Given the description of an element on the screen output the (x, y) to click on. 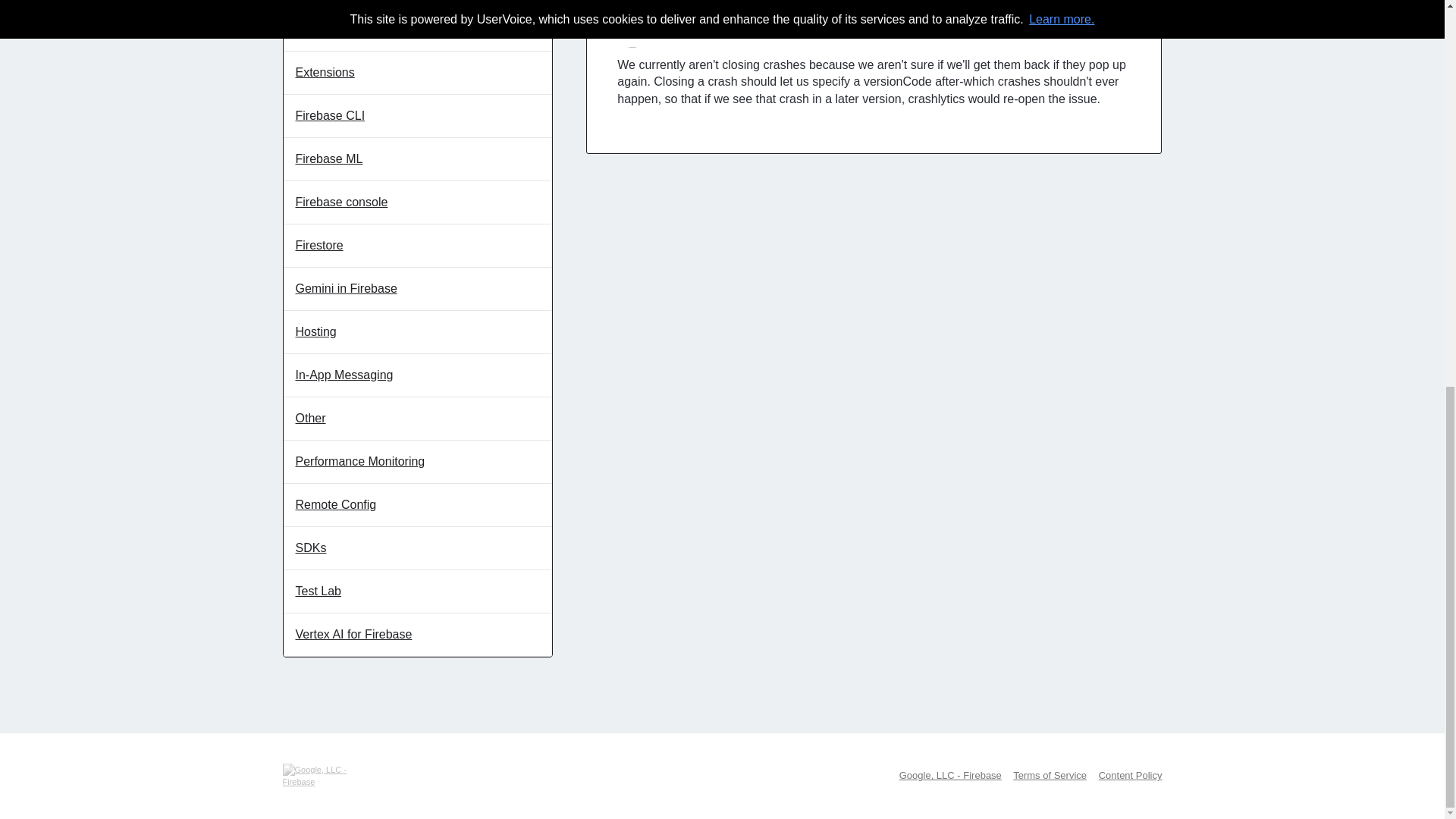
Firebase ML (418, 159)
Dynamic Links (418, 4)
SDKs (418, 548)
Hosting (418, 332)
Firestore (418, 245)
Performance Monitoring (418, 462)
Other (418, 418)
View all ideas in category Dynamic Links (418, 4)
Remote Config (418, 505)
In-App Messaging (418, 375)
View all ideas in category Emulators (418, 29)
Extensions (418, 73)
Test Lab (418, 591)
Firebase console (418, 202)
Firebase CLI (418, 116)
